Given the description of an element on the screen output the (x, y) to click on. 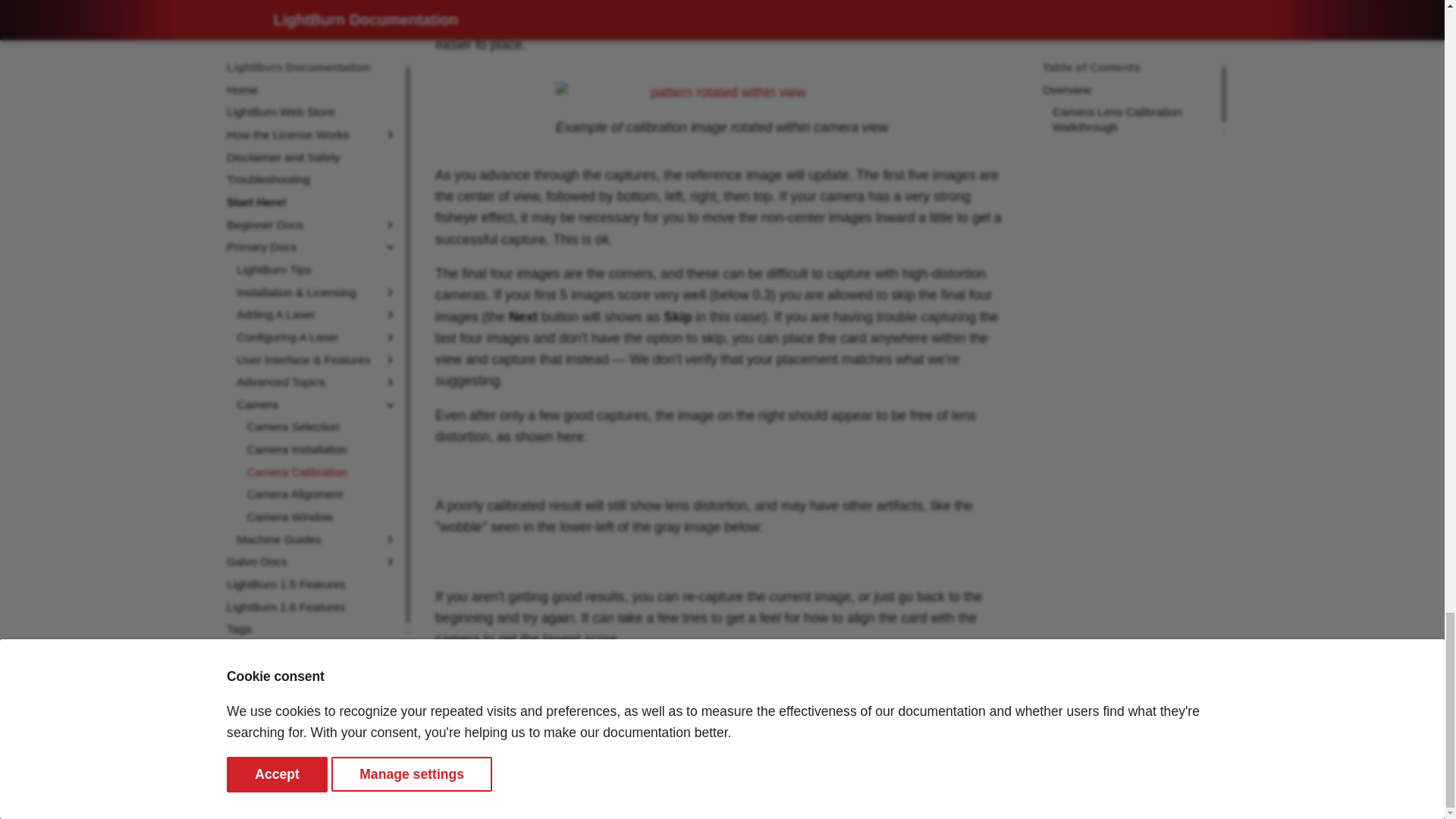
www.tiktok.com (1117, 773)
twitter.com (1056, 773)
www.instagram.com (1087, 773)
forum.lightburnsoftware.com (1147, 773)
lightburnsoftware.com (1207, 773)
